Given the description of an element on the screen output the (x, y) to click on. 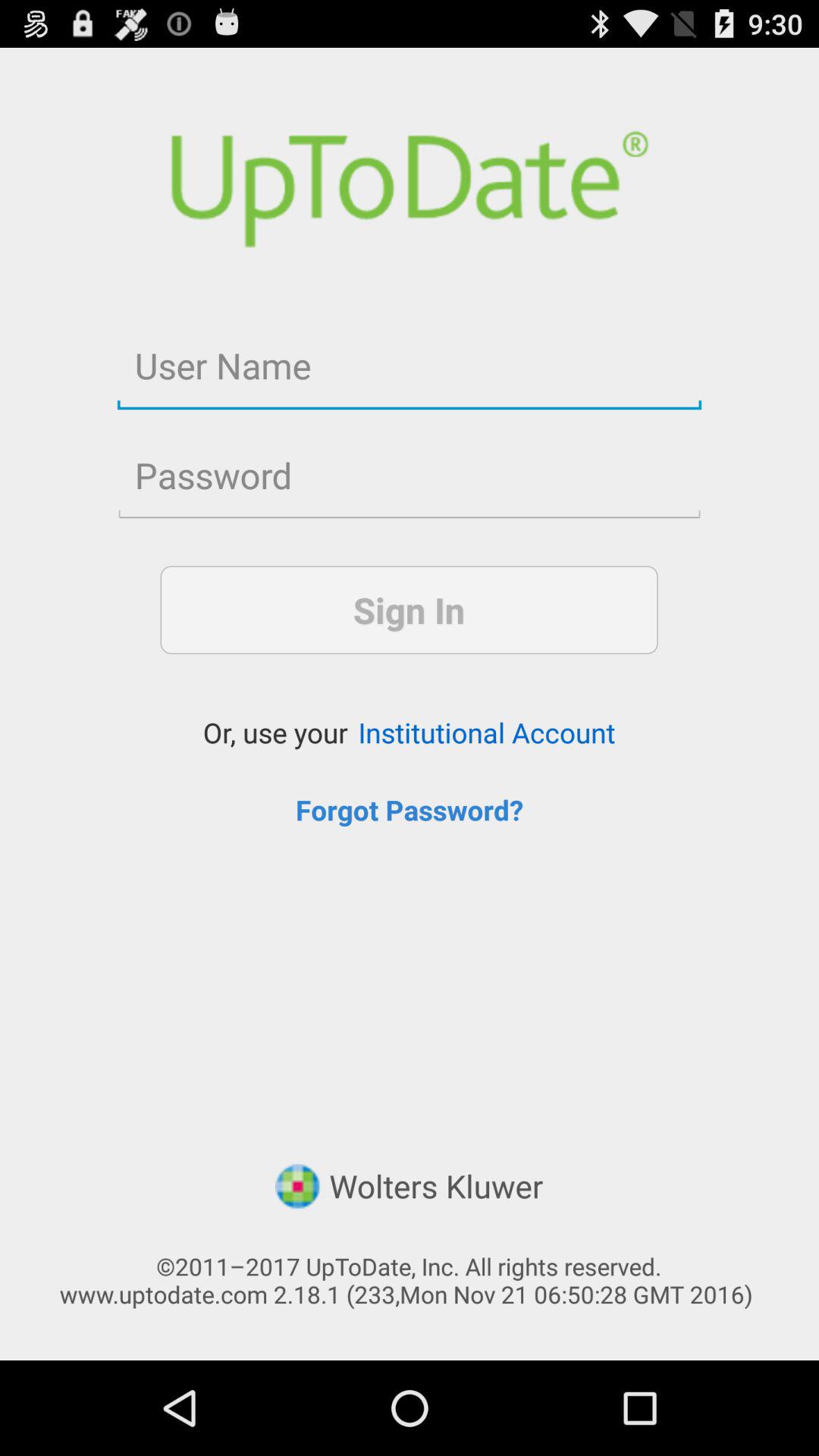
flip until forgot password? (409, 809)
